Given the description of an element on the screen output the (x, y) to click on. 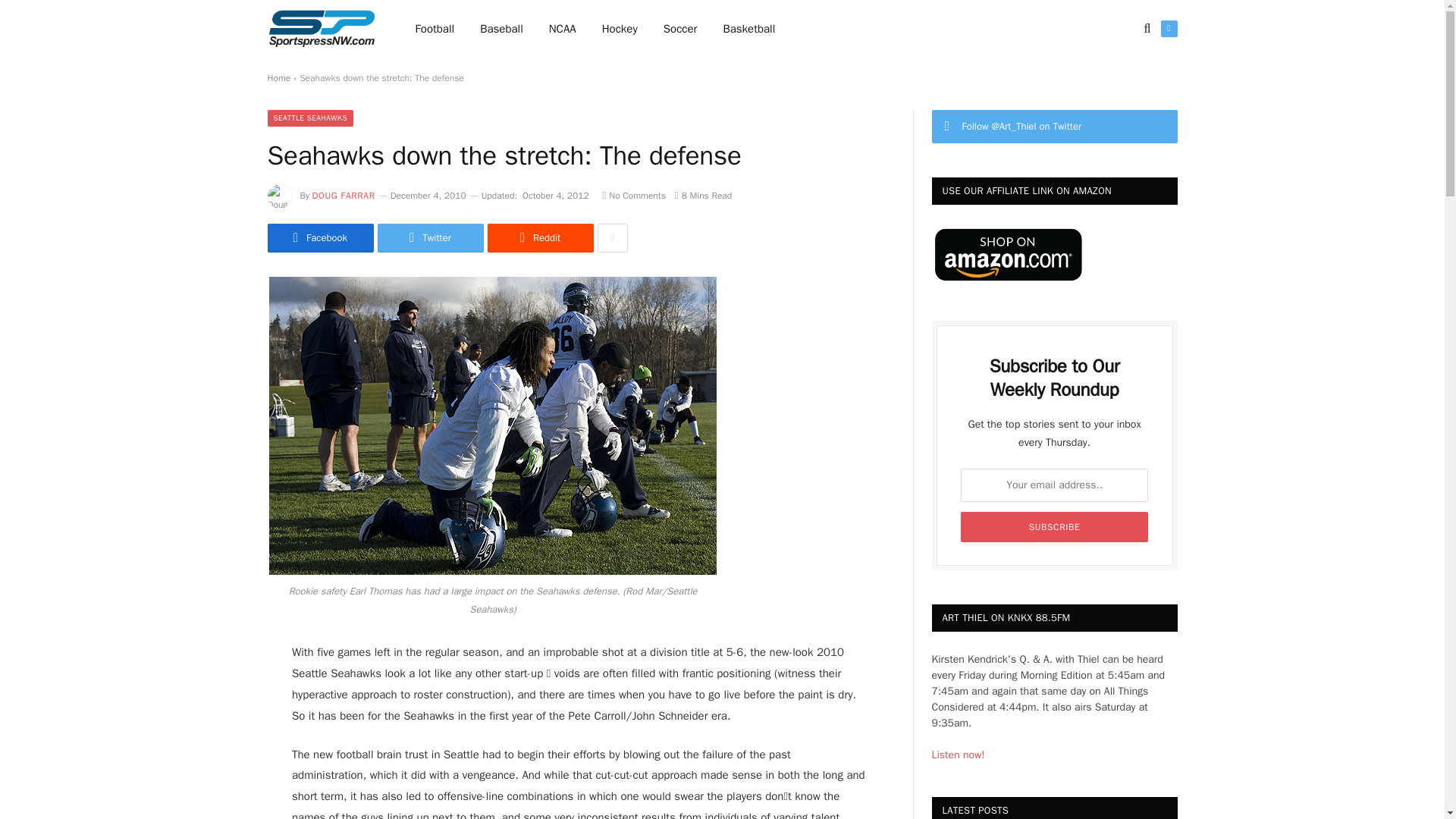
NCAA (562, 28)
Basketball (748, 28)
Subscribe (1053, 526)
SEATTLE SEAHAWKS (309, 117)
Posts by Doug Farrar (344, 195)
Twitter (1168, 28)
Facebook (319, 237)
Twitter (430, 237)
Reddit (539, 237)
Soccer (680, 28)
Home (277, 78)
Sportspress Northwest (320, 28)
Share on Twitter (319, 237)
DOUG FARRAR (344, 195)
Share on Twitter (430, 237)
